Given the description of an element on the screen output the (x, y) to click on. 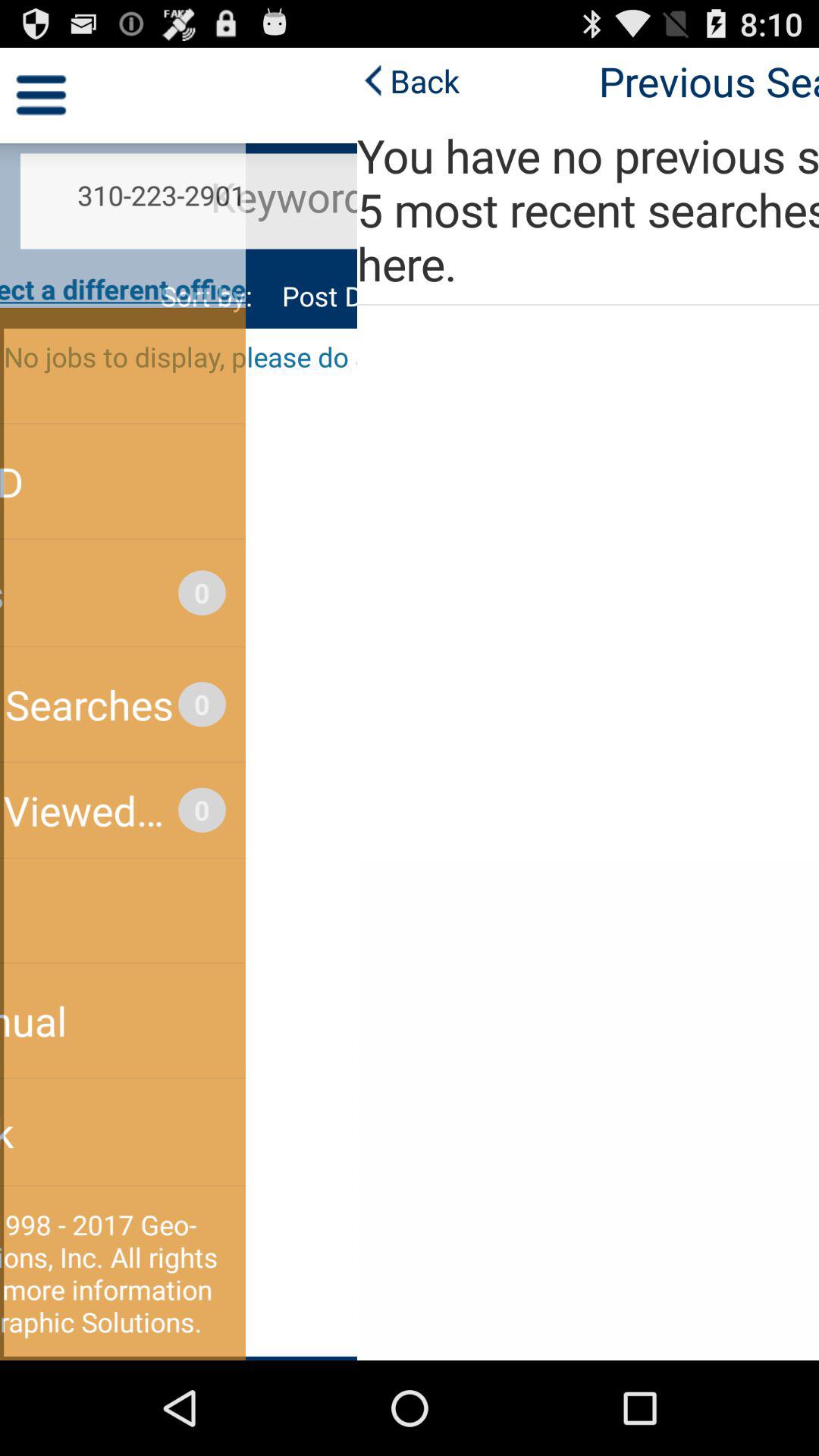
turn off the icon to the left of the previous searches item (51, 80)
